Given the description of an element on the screen output the (x, y) to click on. 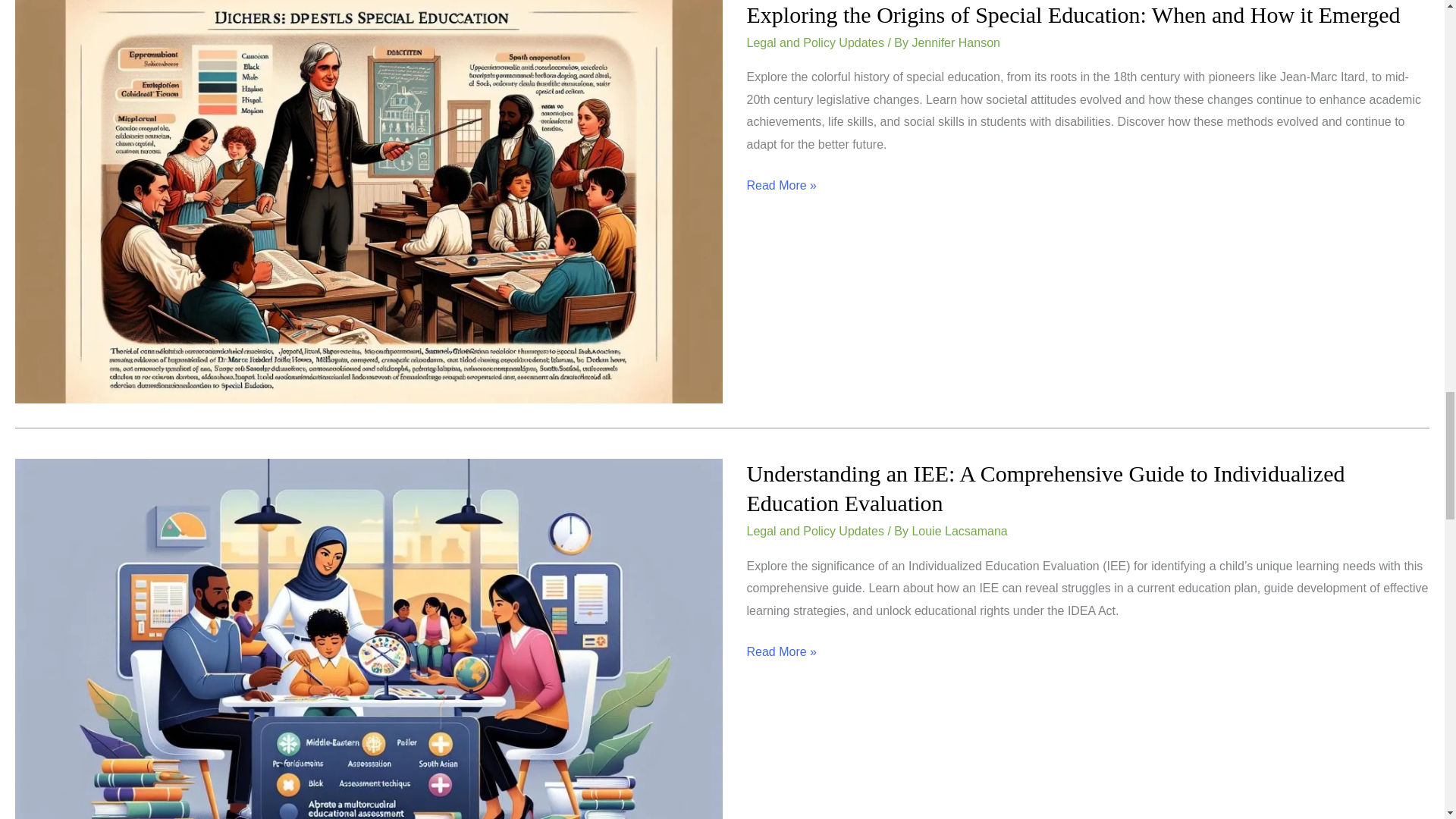
View all posts by Louie Lacsamana (959, 530)
View all posts by Jennifer Hanson (955, 42)
